Given the description of an element on the screen output the (x, y) to click on. 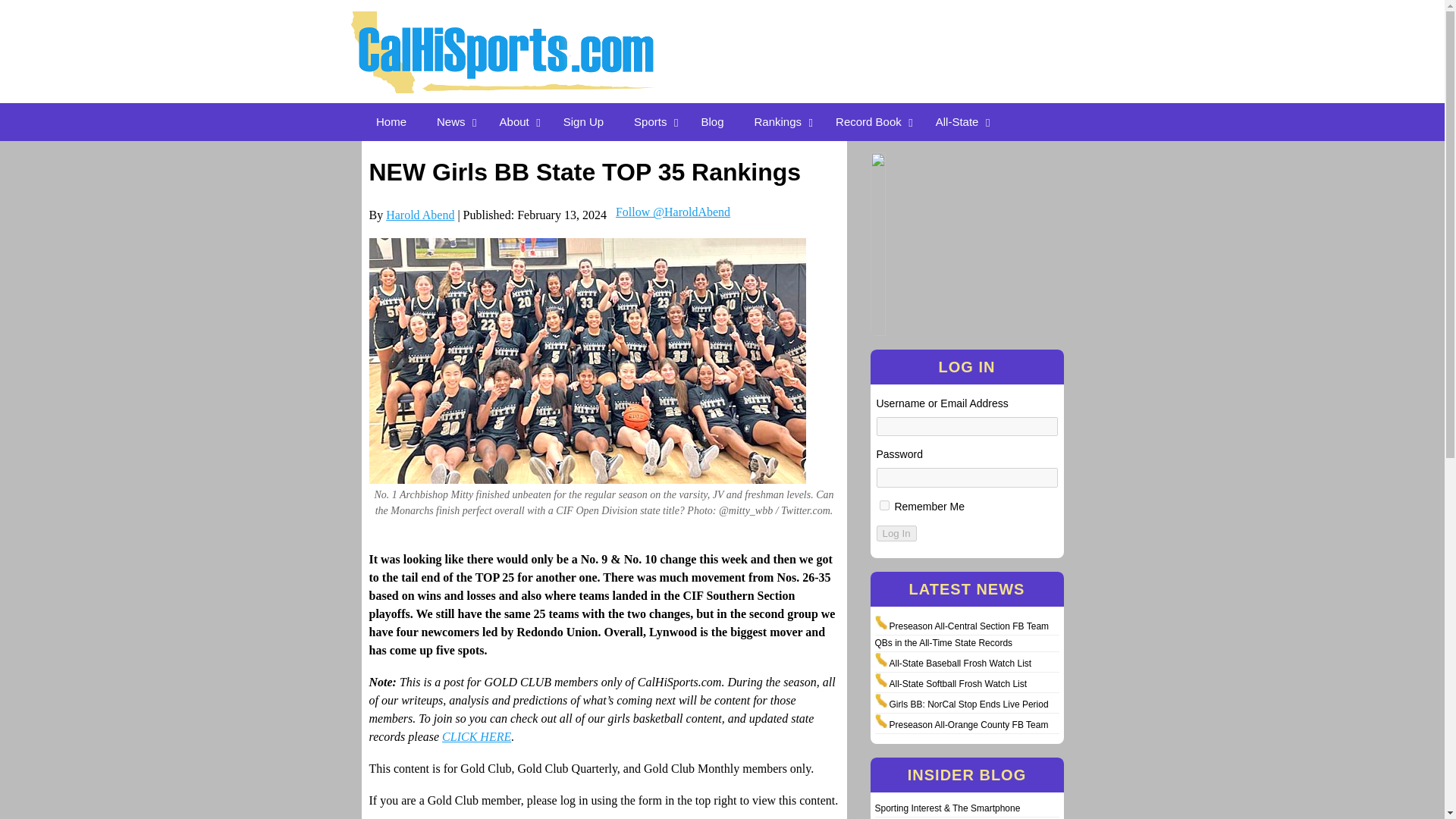
Rankings (779, 121)
Blog (711, 121)
Sports (651, 121)
News (453, 121)
forever (884, 505)
Permalink to Girls BB: NorCal Stop Ends Live Period (968, 704)
Permalink to Preseason All-Central Section FB Team (968, 625)
Home (391, 121)
Sign Up (583, 121)
Permalink to All-State Softball Frosh Watch List (957, 683)
View all posts by Harold Abend (419, 214)
Permalink to All-State Baseball Frosh Watch List (959, 663)
Record Book (870, 121)
Permalink to Preseason All-Orange County FB Team (968, 724)
About (516, 121)
